Given the description of an element on the screen output the (x, y) to click on. 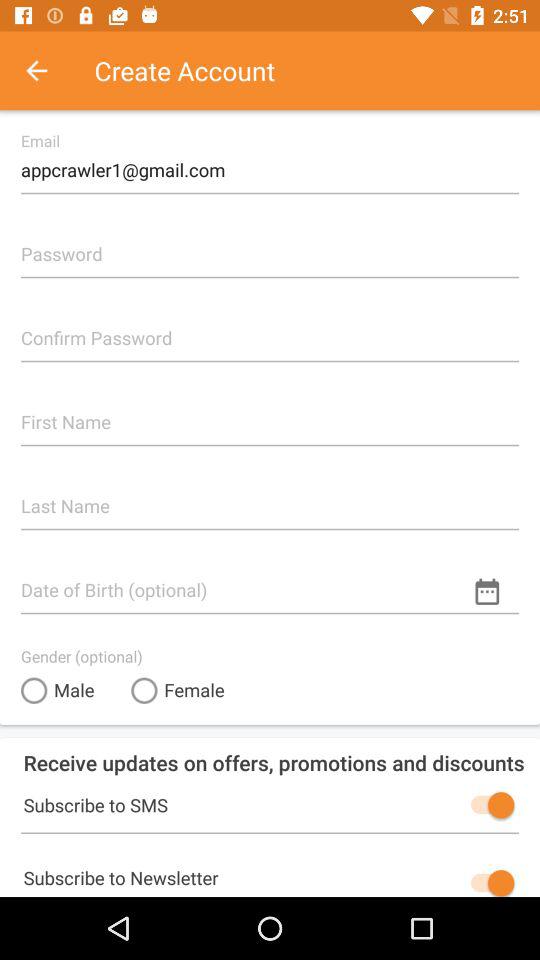
press item below gender (optional) (177, 690)
